Given the description of an element on the screen output the (x, y) to click on. 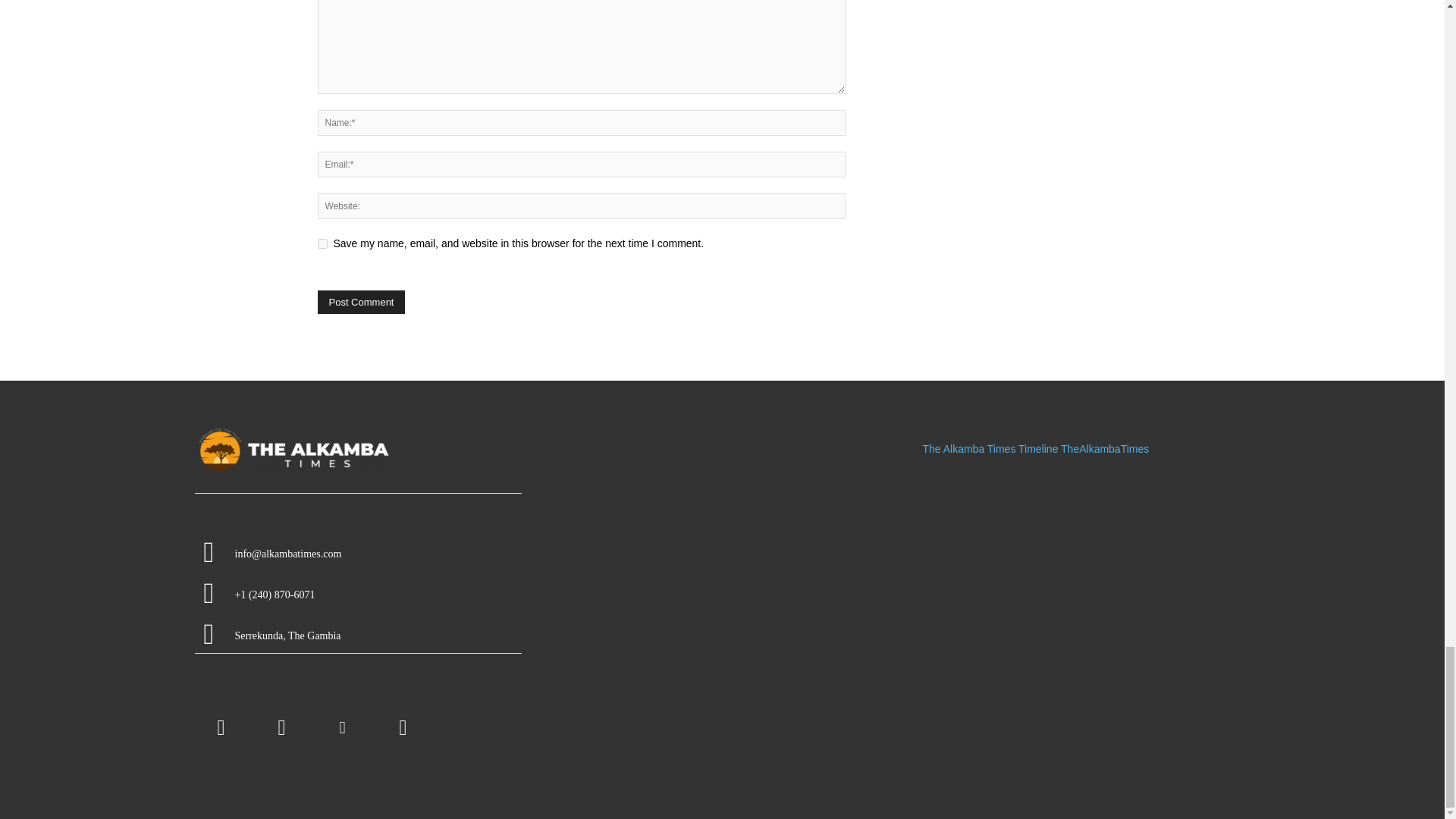
Post Comment (360, 301)
yes (321, 243)
